Given the description of an element on the screen output the (x, y) to click on. 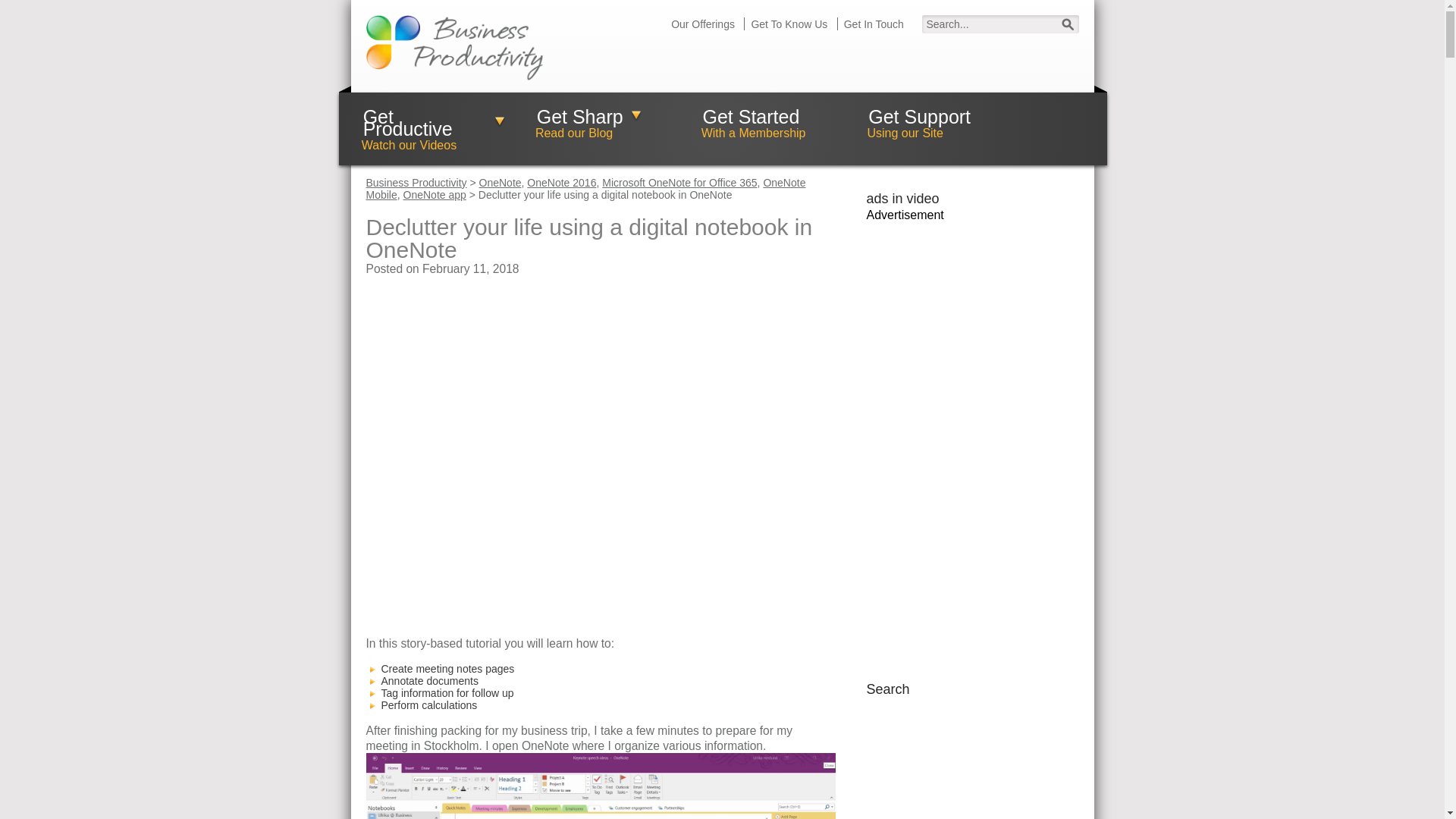
Business Productivity Home (453, 46)
Get In Touch (874, 24)
Go to Business Productivity. (415, 182)
Go to the OneNote app tag archives. (434, 194)
Go to the OneNote tag archives. (500, 182)
Go to the Microsoft OneNote for Office 365 tag archives. (679, 182)
Get To Know Us (789, 24)
Go to the OneNote 2016 tag archives. (561, 182)
Go to the OneNote Mobile tag archives. (585, 188)
Get Productive (433, 122)
Search... (999, 24)
Our Offerings (703, 24)
Get Sharp (588, 116)
